Given the description of an element on the screen output the (x, y) to click on. 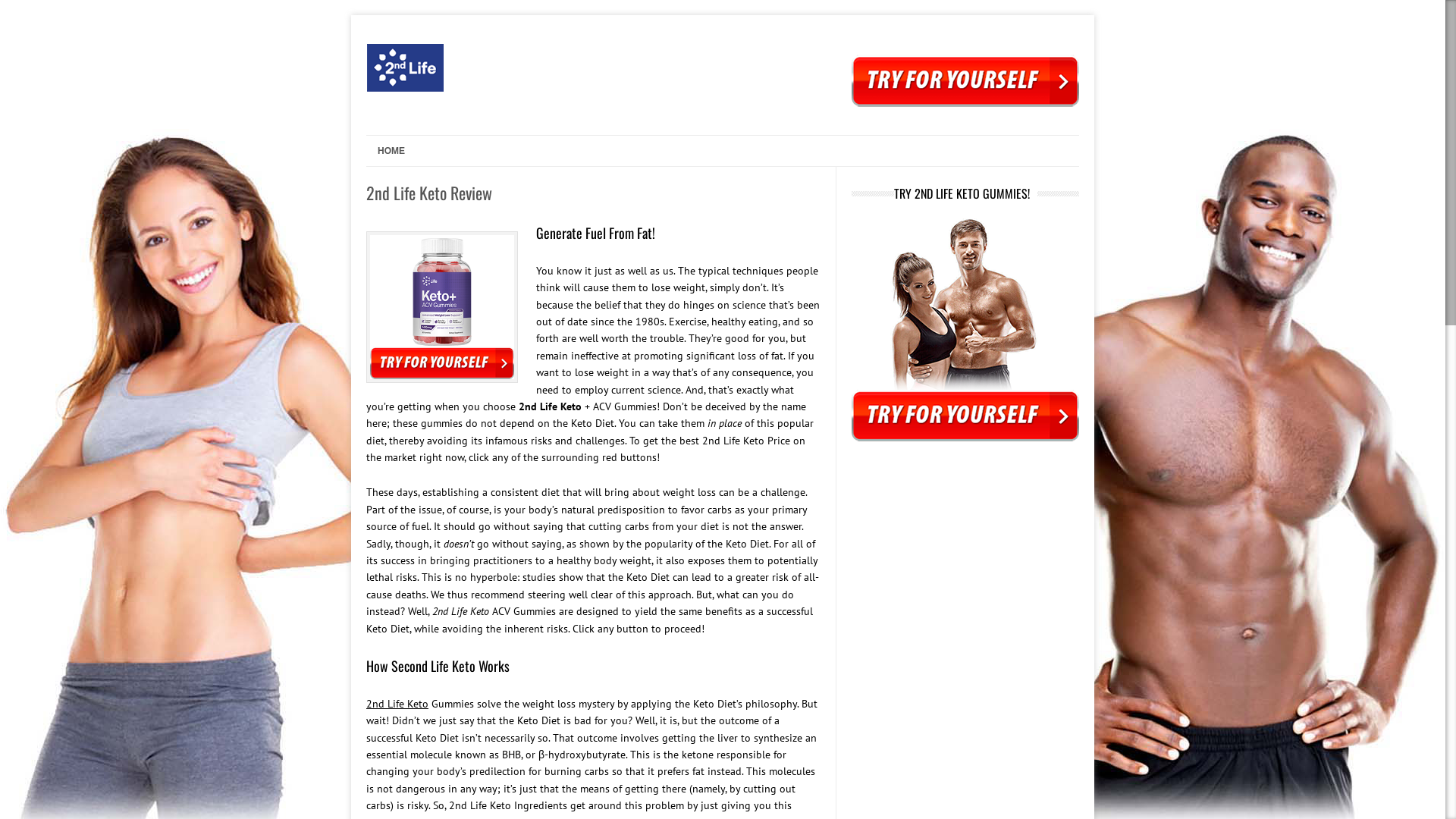
Try 2nd Life Keto Gummies! Element type: hover (965, 437)
Skip to content Element type: text (396, 139)
2nd Life Keto Element type: hover (479, 97)
HOME Element type: text (385, 150)
